Given the description of an element on the screen output the (x, y) to click on. 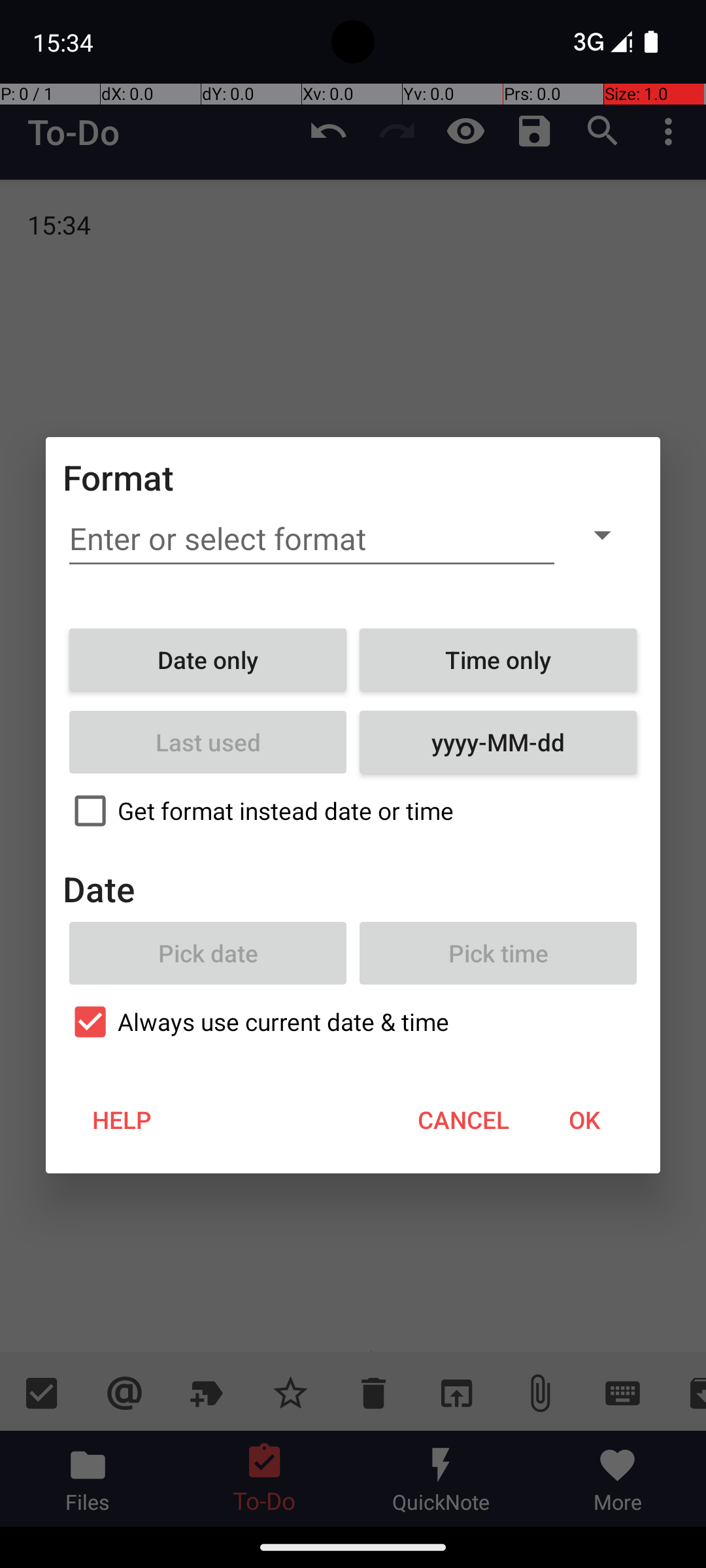
Enter or select format Element type: android.widget.EditText (311, 538)
Date only Element type: android.widget.Button (207, 659)
Time only Element type: android.widget.Button (498, 659)
Last used Element type: android.widget.Button (207, 742)
Get format instead date or time Element type: android.widget.CheckBox (352, 810)
Pick date Element type: android.widget.Button (207, 953)
Always use current date & time Element type: android.widget.CheckBox (352, 1021)
HELP Element type: android.widget.Button (121, 1119)
